Given the description of an element on the screen output the (x, y) to click on. 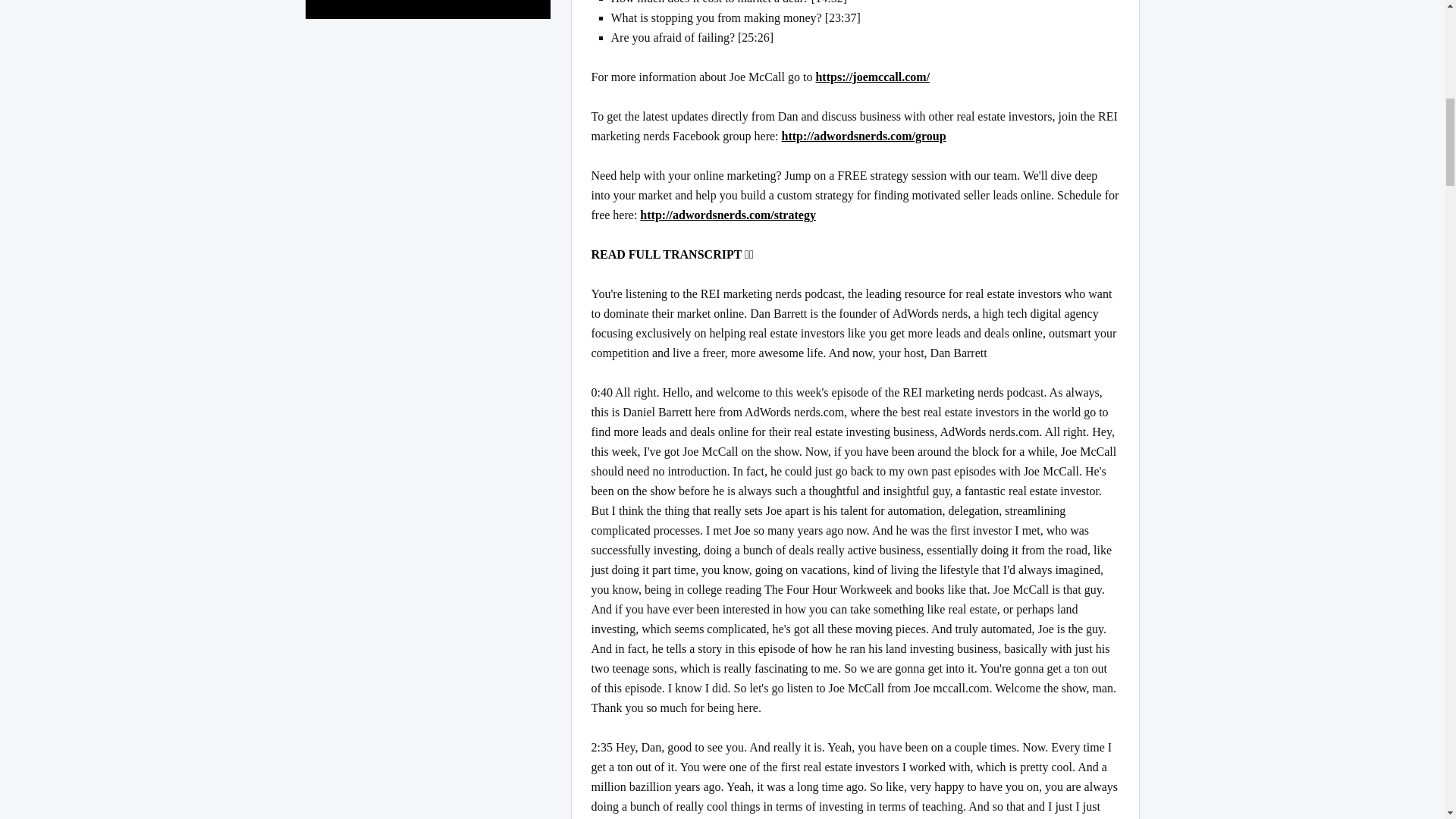
READ FULL TRANSCRIPT (855, 264)
